Given the description of an element on the screen output the (x, y) to click on. 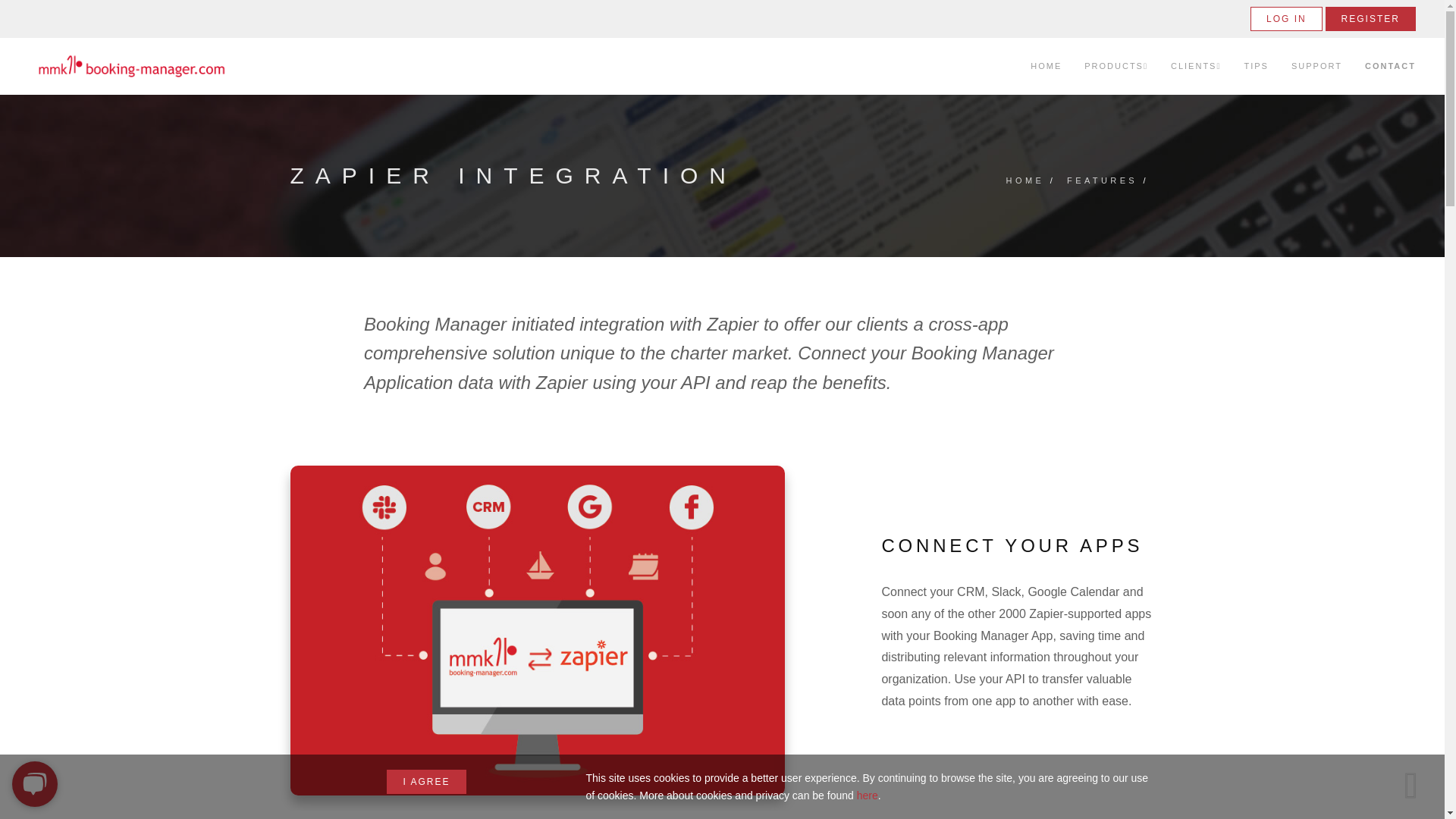
HOME (1045, 66)
FEATURES (1102, 181)
LOG IN (1286, 18)
Home (1045, 66)
CLIENTS (1195, 66)
SUPPORT (1316, 66)
HOME (1025, 181)
REGISTER (1369, 18)
Support (1316, 66)
Tips (1255, 66)
Contact (1390, 66)
PRODUCTS (1116, 66)
TIPS (1255, 66)
Chat Widget (37, 782)
Products (1116, 66)
